Given the description of an element on the screen output the (x, y) to click on. 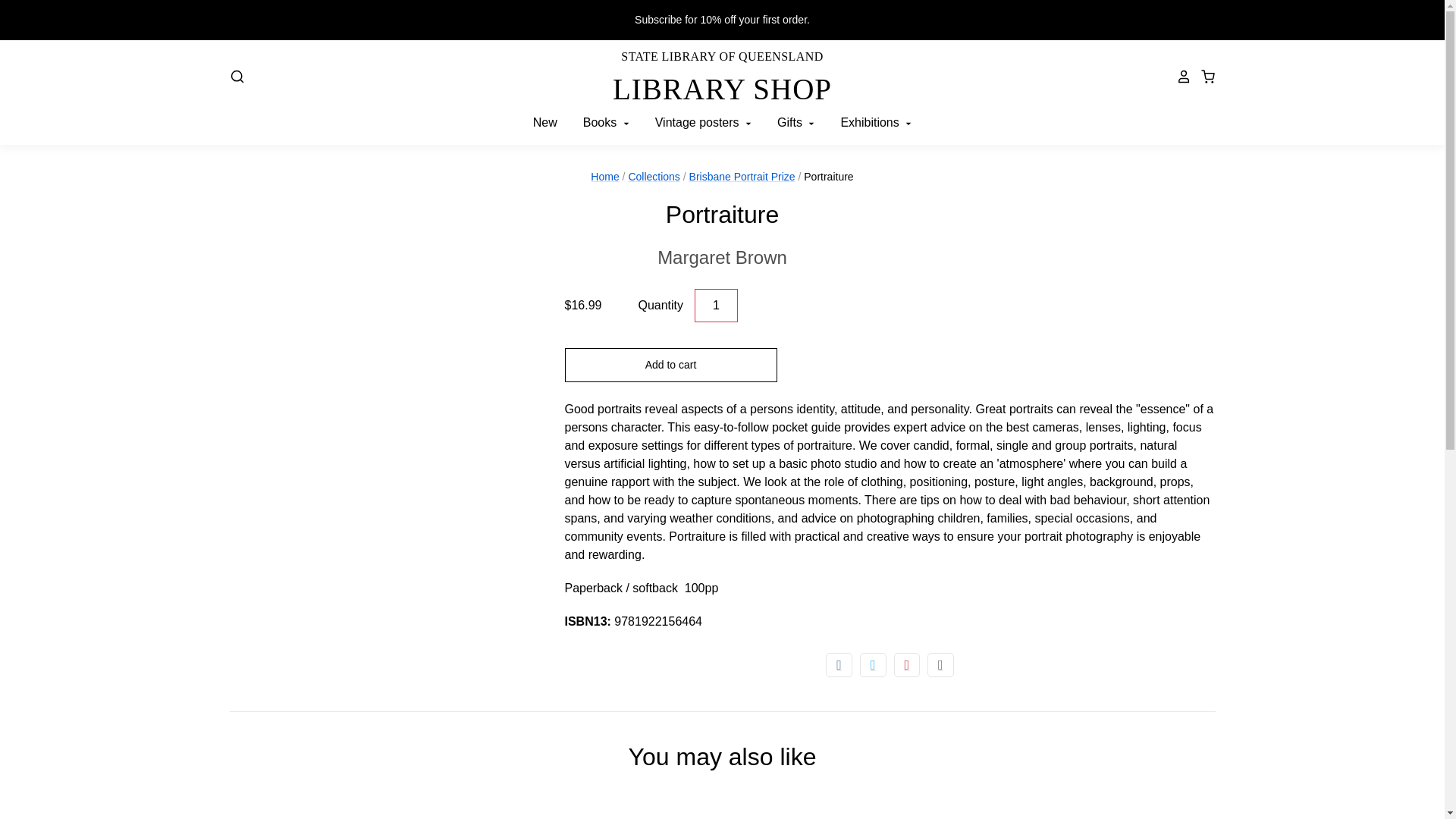
1 (715, 305)
Add to cart (670, 364)
